Given the description of an element on the screen output the (x, y) to click on. 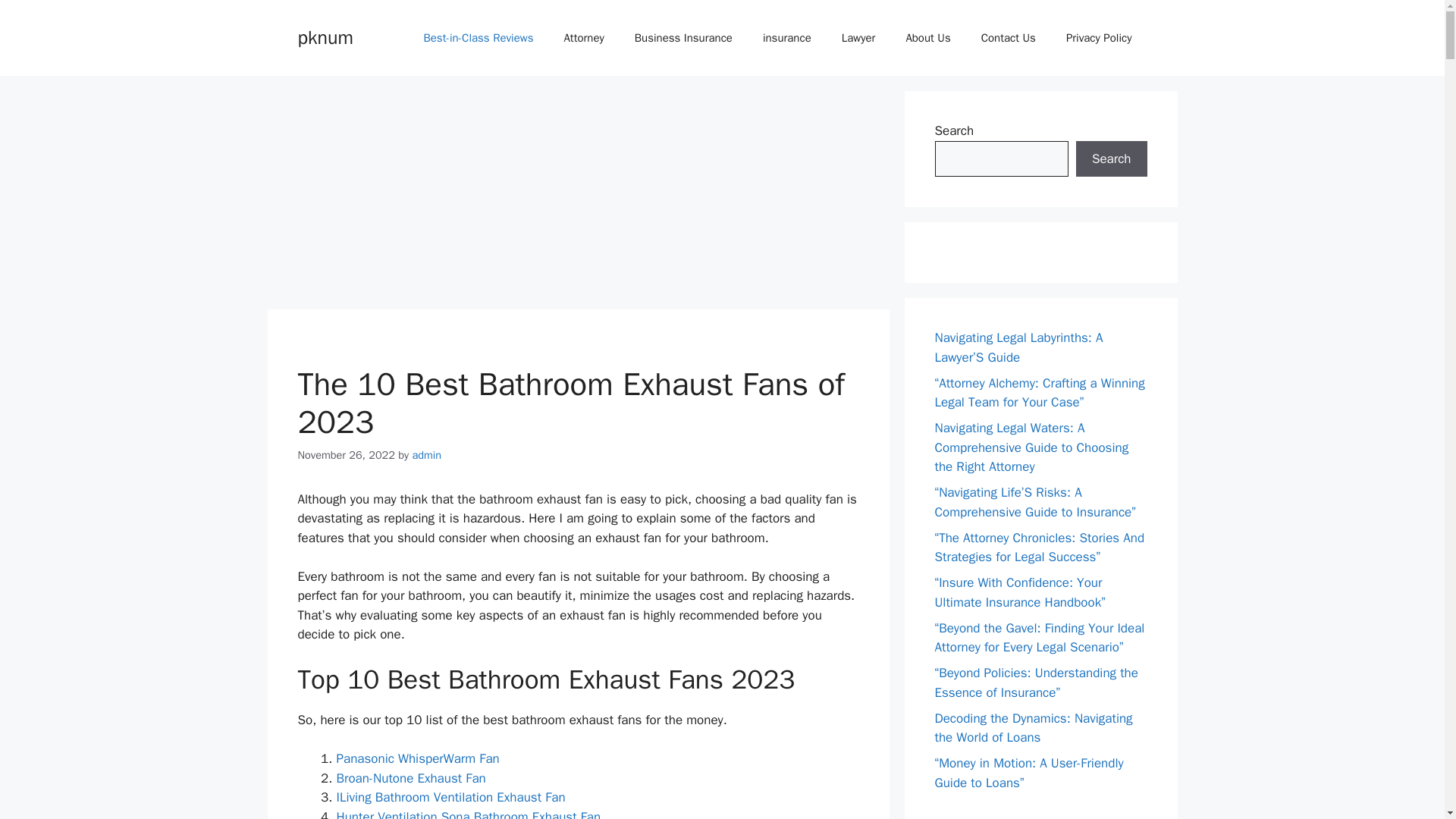
View all posts by admin (426, 454)
Advertisement (577, 196)
Privacy Policy (1099, 37)
Hunter Ventilation Sona Bathroom Exhaust Fan (468, 814)
About Us (927, 37)
ILiving Bathroom Ventilation Exhaust Fan (451, 797)
Best-in-Class Reviews (477, 37)
Business Insurance (684, 37)
Attorney (583, 37)
Panasonic WhisperWarm Fan (417, 758)
pknum (324, 37)
insurance (787, 37)
admin (426, 454)
Broan-Nutone Exhaust Fan (411, 778)
Lawyer (859, 37)
